Given the description of an element on the screen output the (x, y) to click on. 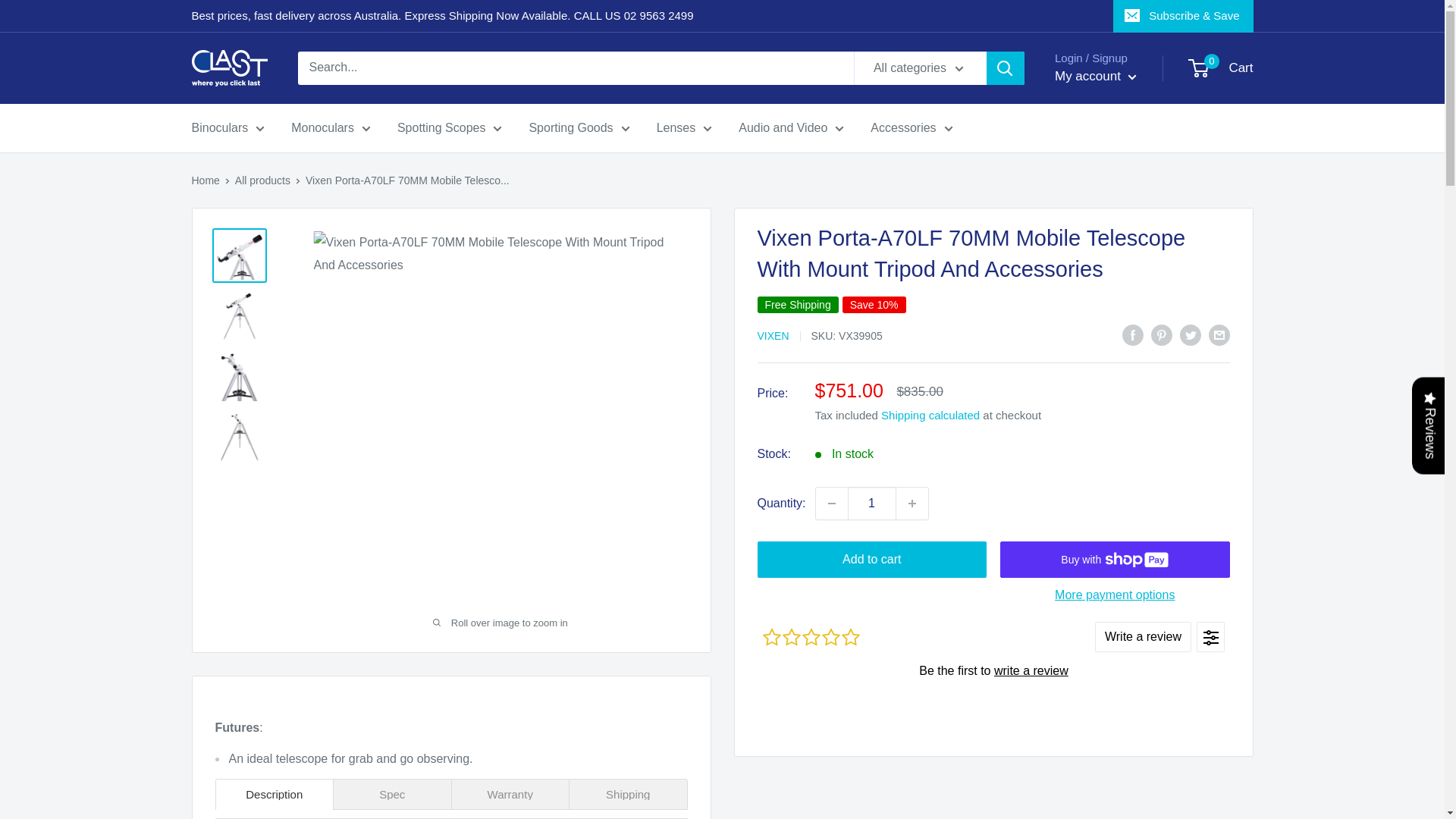
1 (871, 503)
Increase quantity by 1 (912, 503)
Product reviews widget (992, 669)
Decrease quantity by 1 (831, 503)
